Given the description of an element on the screen output the (x, y) to click on. 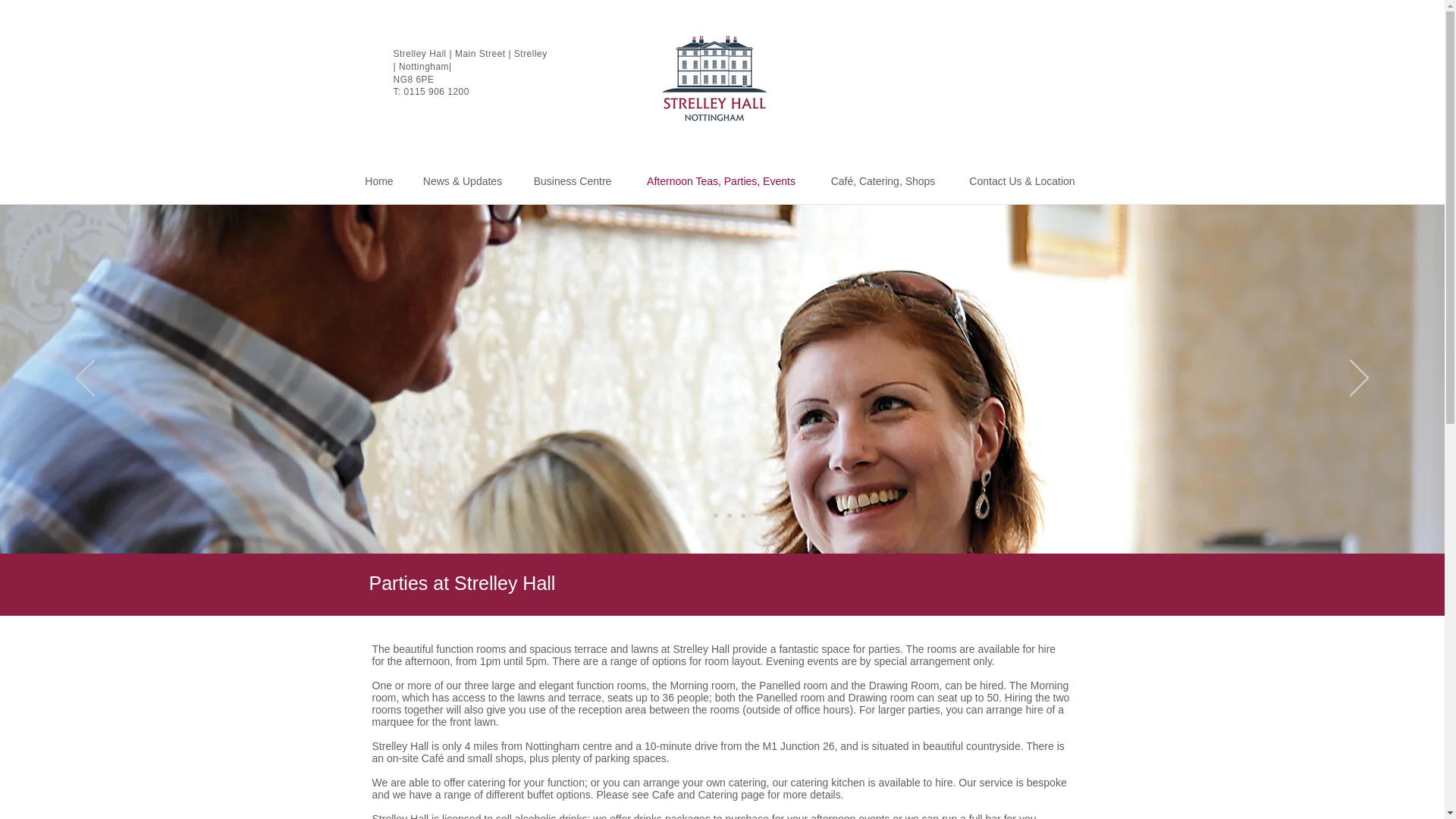
Home (378, 180)
Business Centre (571, 180)
Afternoon Teas, Parties, Events (721, 180)
